Given the description of an element on the screen output the (x, y) to click on. 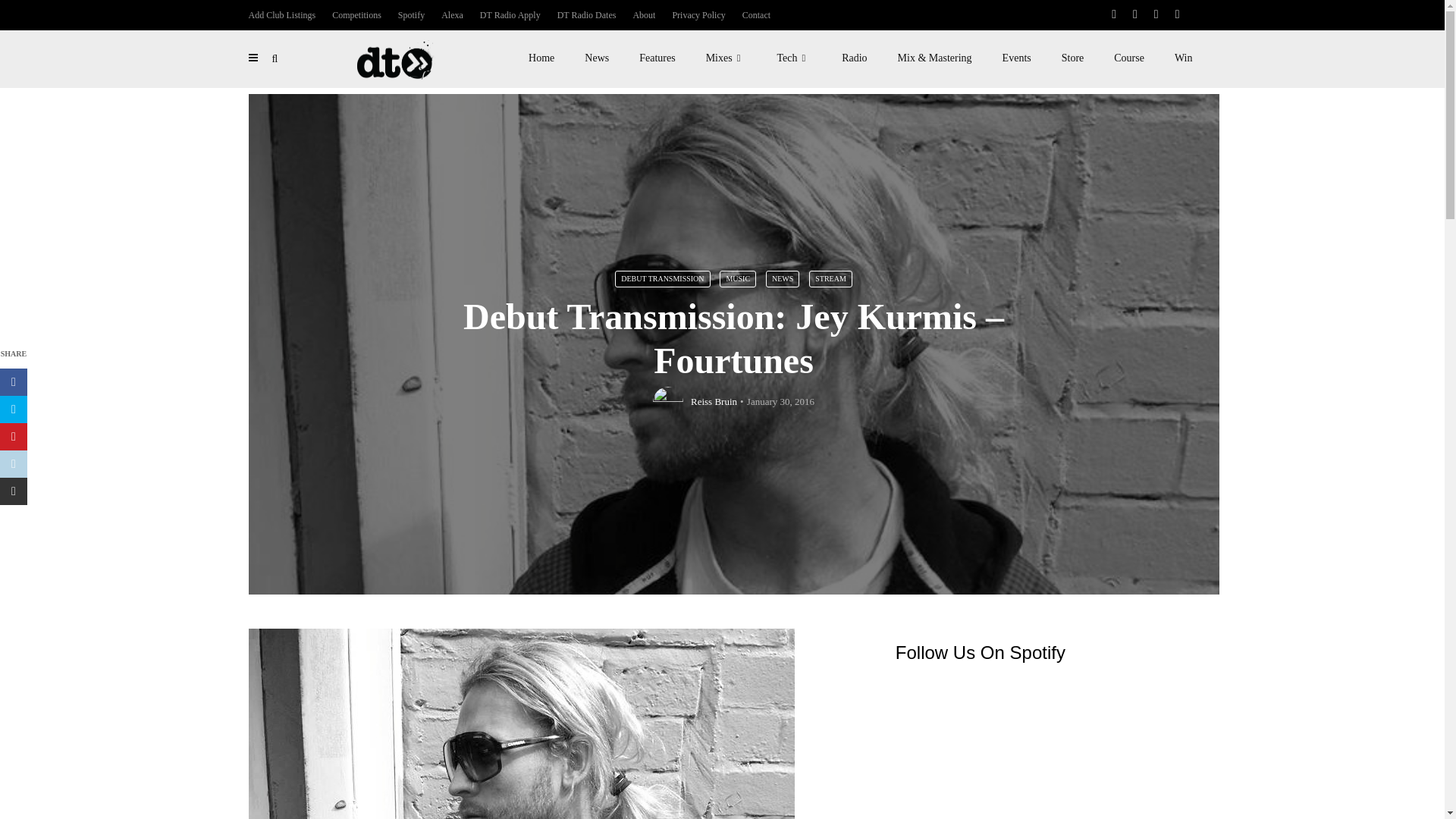
Mixes (725, 57)
Spotify Embed: New Music Friday (1045, 749)
Home (541, 57)
News (596, 57)
Radio (854, 57)
Course (1128, 57)
Store (1072, 57)
Events (1016, 57)
Tech (794, 57)
Features (657, 57)
